Given the description of an element on the screen output the (x, y) to click on. 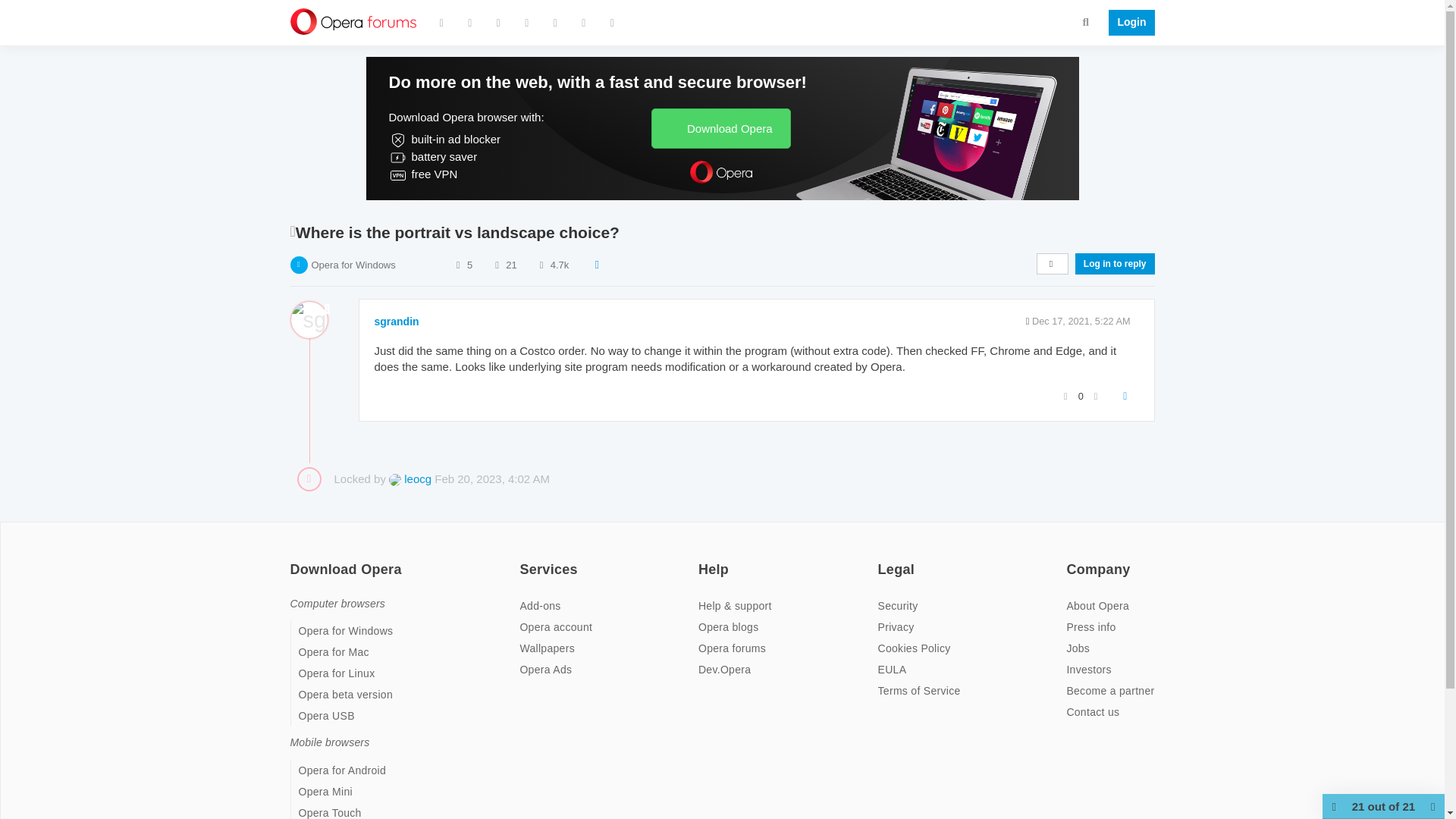
on (293, 559)
Search (1085, 21)
Download Opera (720, 128)
Dec 17, 2021, 5:22 AM (1081, 320)
on (523, 559)
on (702, 559)
on (881, 559)
Opera for Windows (352, 265)
on (1070, 559)
Login (1127, 22)
